Given the description of an element on the screen output the (x, y) to click on. 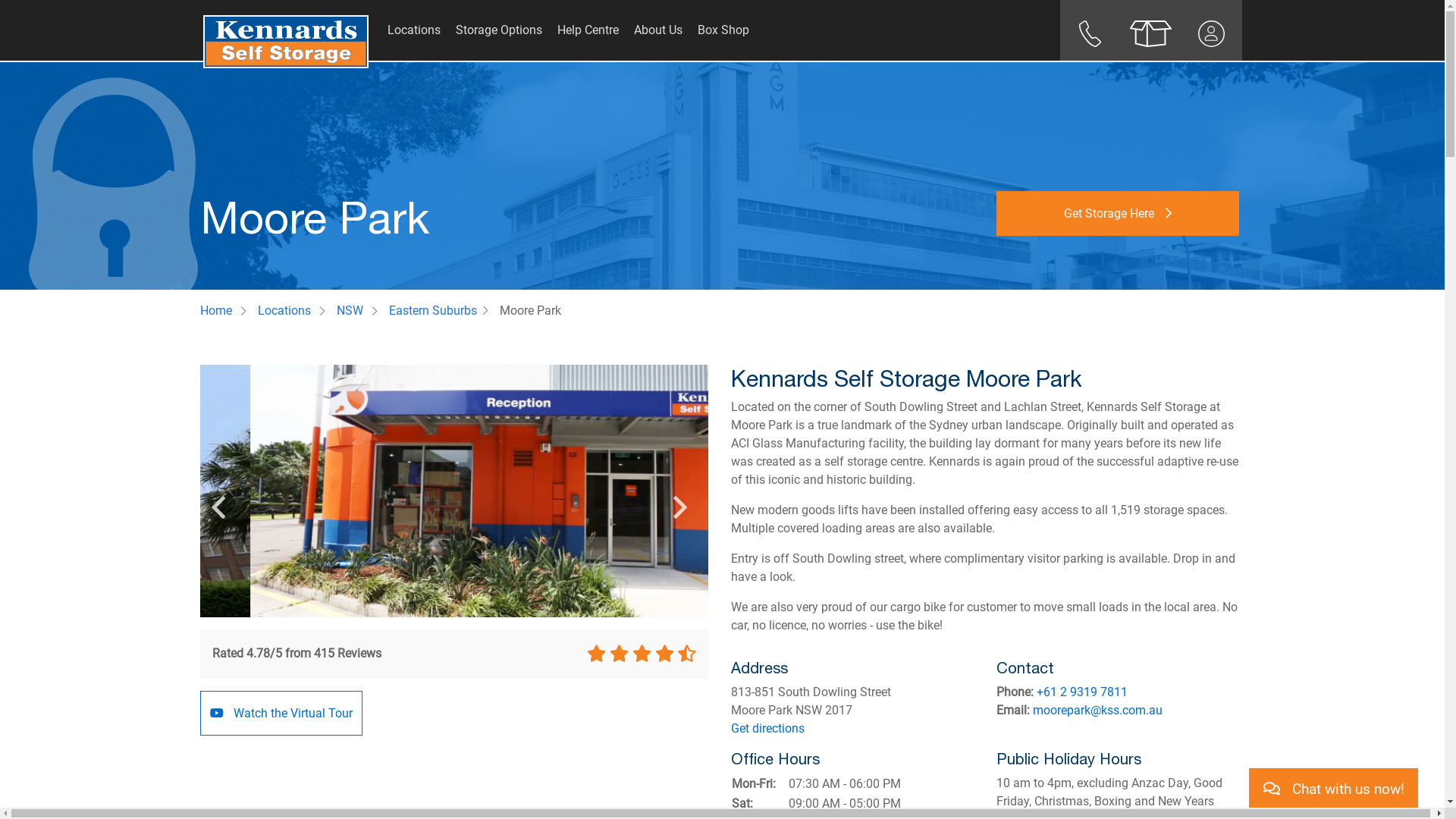
Next Element type: text (679, 496)
Previous Element type: text (217, 496)
Box Shop Element type: text (723, 30)
Chat with us now! Element type: text (1333, 789)
Get directions Element type: text (767, 728)
moorepark@kss.com.au Element type: text (1097, 709)
Eastern Suburbs Element type: text (432, 310)
Storage Options Element type: text (498, 30)
Get Storage Here Element type: text (1117, 213)
Home Element type: text (216, 310)
About Us Element type: text (658, 30)
My Account Element type: hover (1211, 32)
Call Us Element type: hover (1089, 32)
+61 2 9319 7811 Element type: text (1081, 691)
Help Centre Element type: text (587, 30)
NSW Element type: text (349, 310)
Box Shop Element type: hover (1150, 32)
Watch the Virtual Tour Element type: text (281, 712)
Locations Element type: text (283, 310)
Locations Element type: text (413, 30)
